Given the description of an element on the screen output the (x, y) to click on. 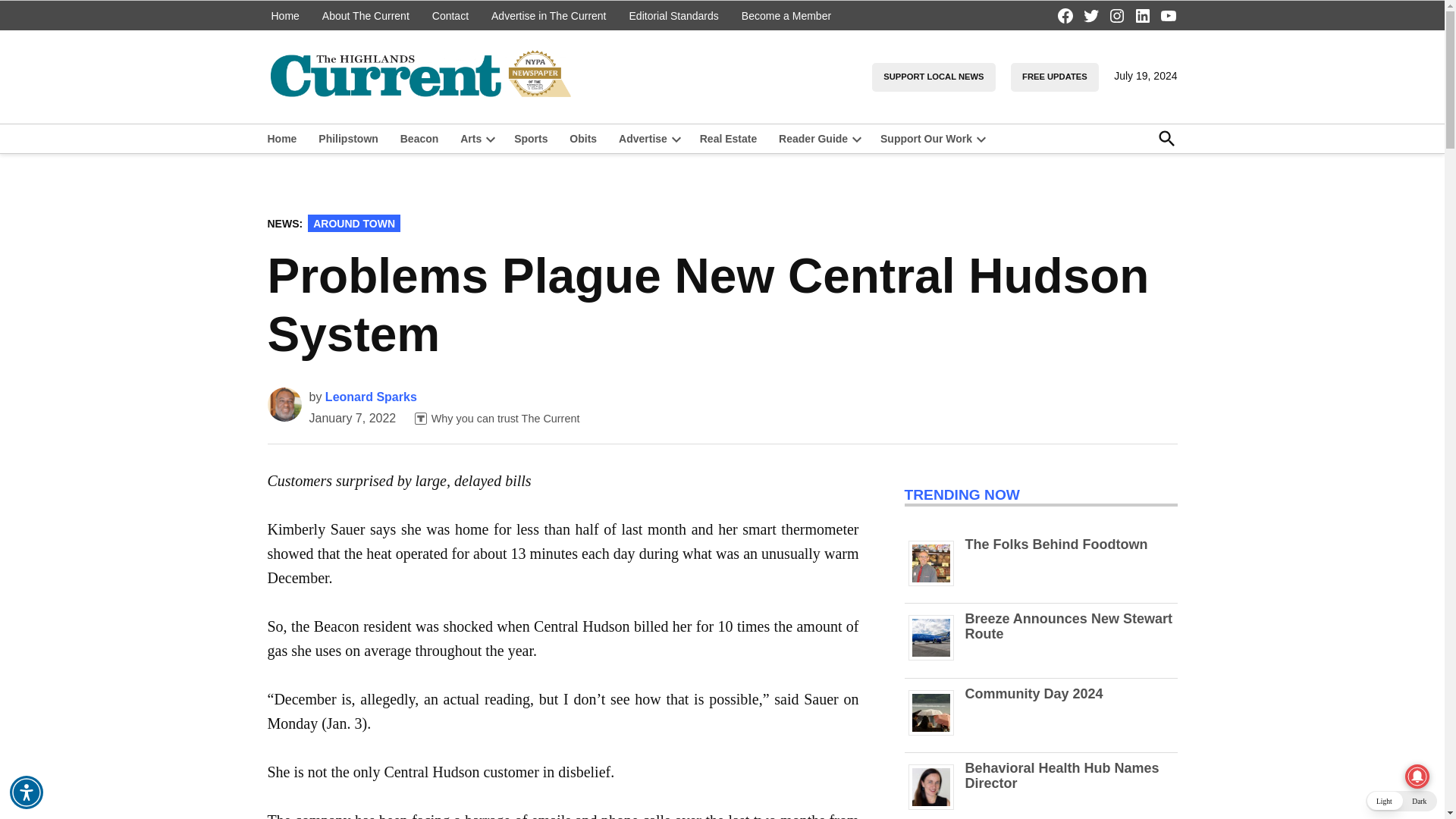
Accessibility Menu (26, 792)
